Given the description of an element on the screen output the (x, y) to click on. 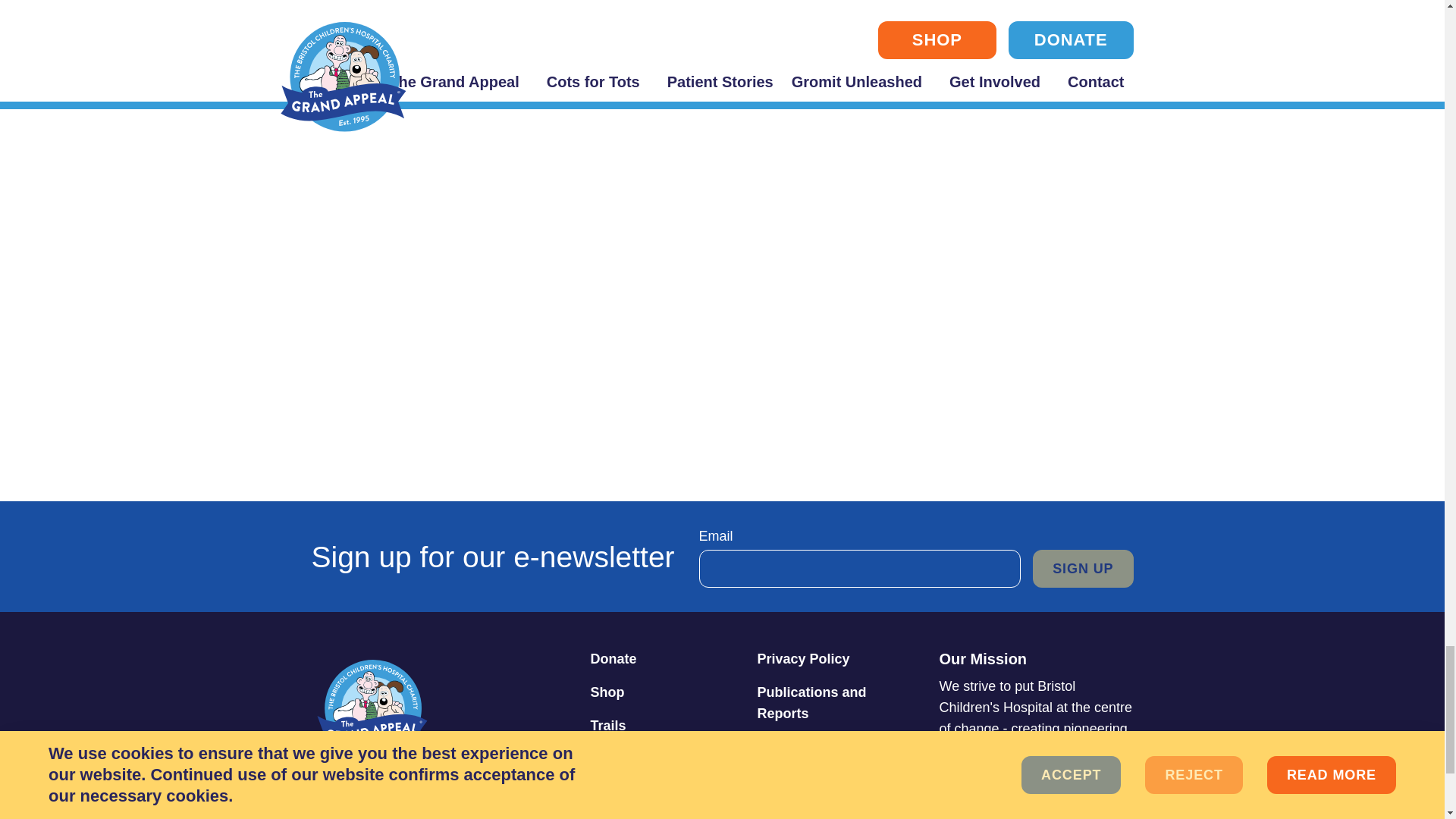
Shop (666, 692)
Trails (666, 725)
Donate (666, 658)
SIGN UP (1082, 568)
